Given the description of an element on the screen output the (x, y) to click on. 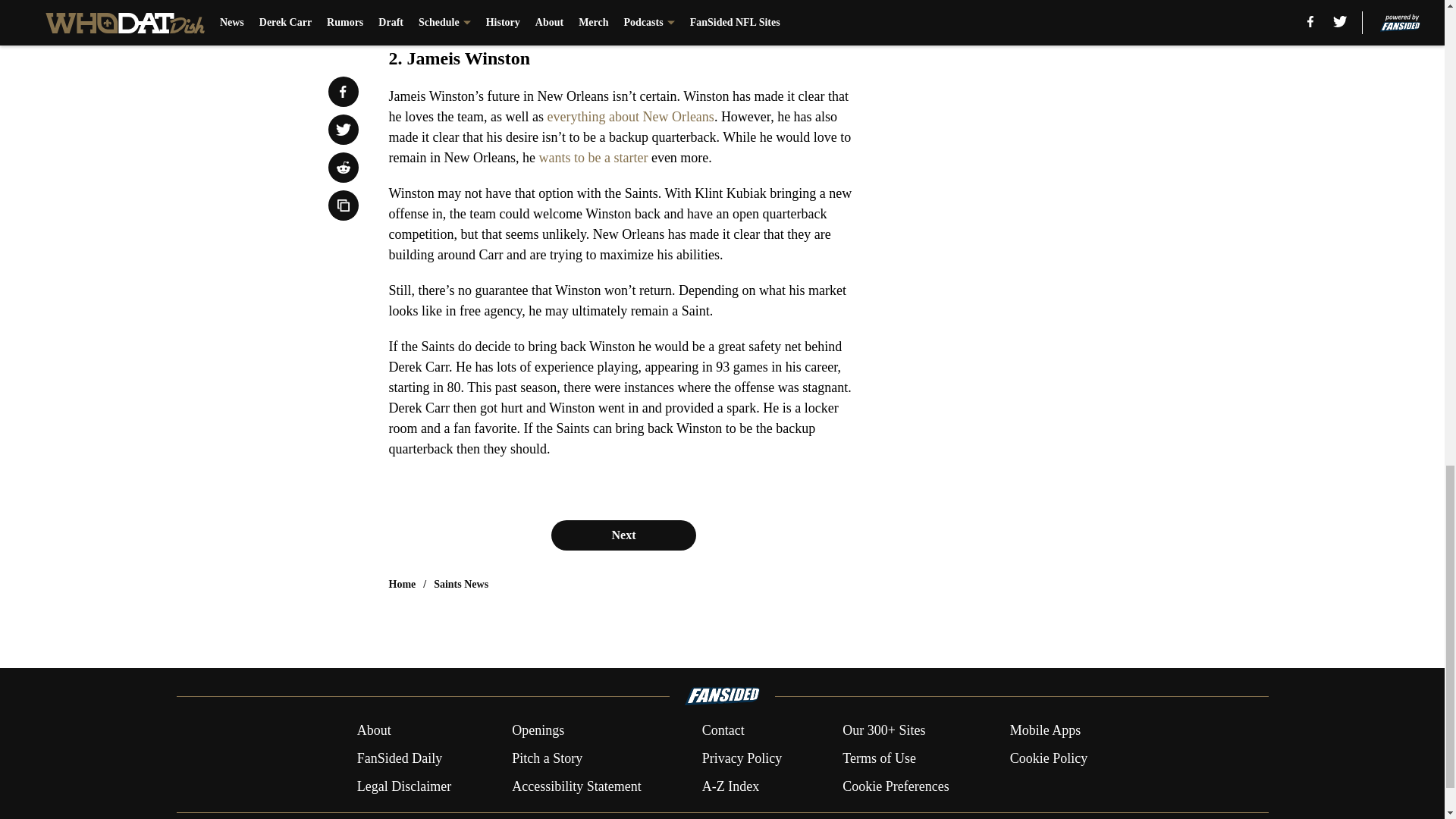
Home (401, 584)
Saints News (460, 584)
everything about New Orleans (630, 116)
Pitch a Story (547, 758)
Privacy Policy (742, 758)
wants to be a starter (592, 157)
Next (622, 535)
About (373, 730)
Mobile Apps (1045, 730)
Openings (538, 730)
